Given the description of an element on the screen output the (x, y) to click on. 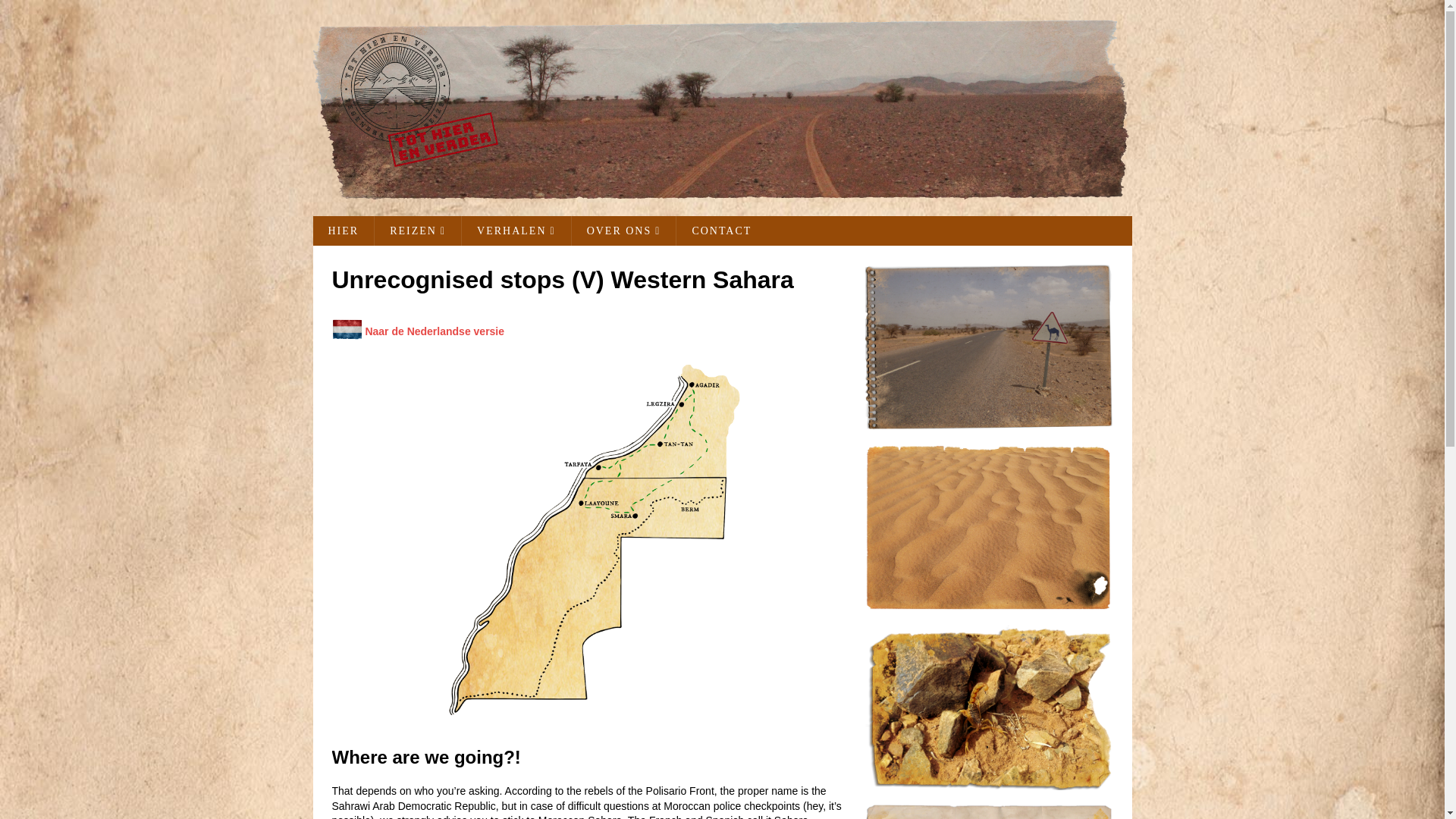
VERHALEN (515, 231)
OVER ONS (623, 231)
Naar de Nederlandse versie (434, 331)
REIZEN (417, 231)
Tot hier en verder (722, 192)
CONTACT (721, 231)
HIER (343, 231)
